Given the description of an element on the screen output the (x, y) to click on. 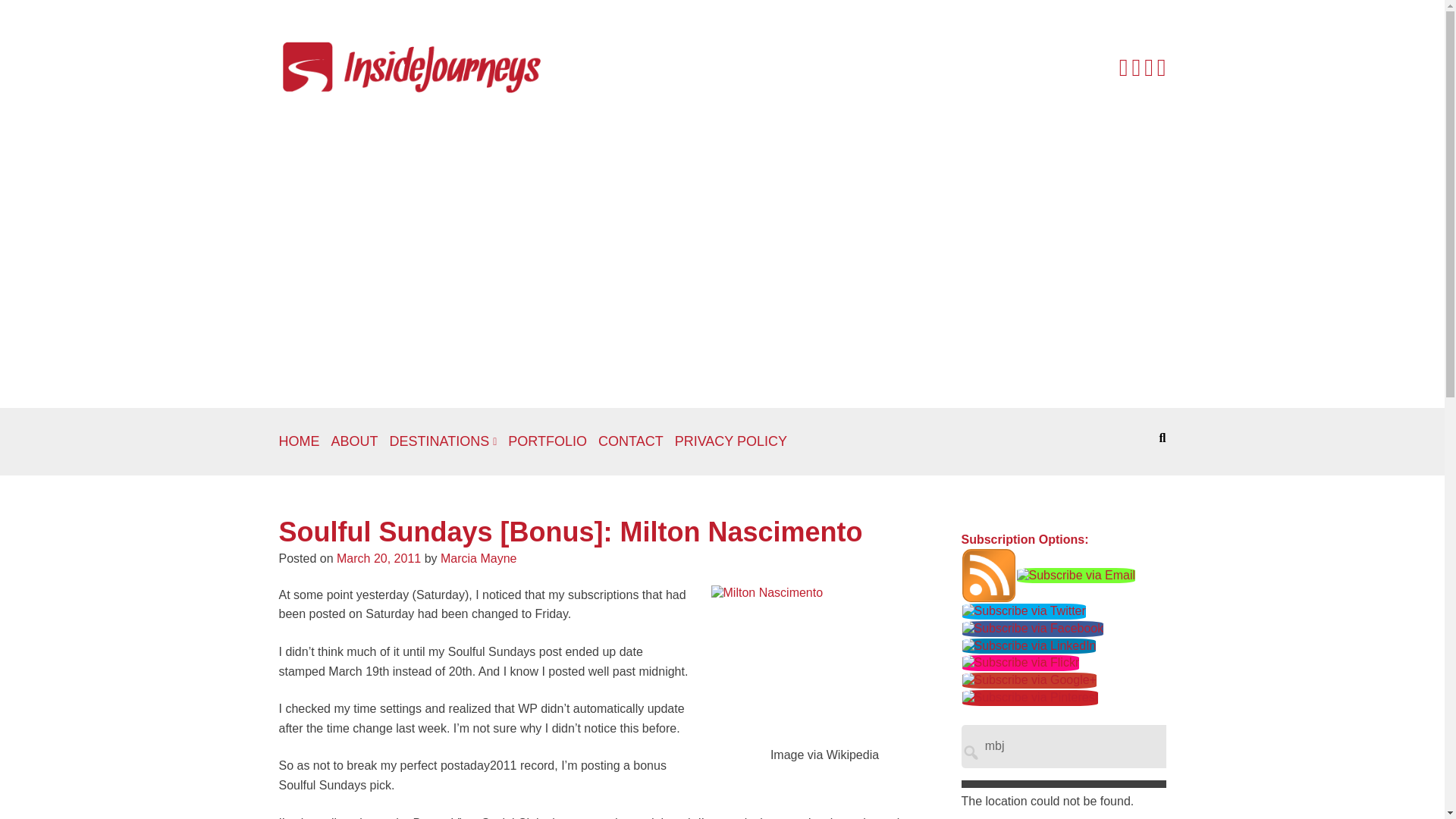
PRIVACY POLICY (731, 441)
Subscribe via LinkedIn (1028, 644)
Subscribe via Flickr (1020, 662)
HOME (299, 441)
Subscribe via Twitter (1023, 610)
Milton Nascimento (825, 661)
mbj (1111, 746)
Subscribe via RSS (988, 574)
InsideJourneys (411, 65)
CONTACT (630, 441)
